Given the description of an element on the screen output the (x, y) to click on. 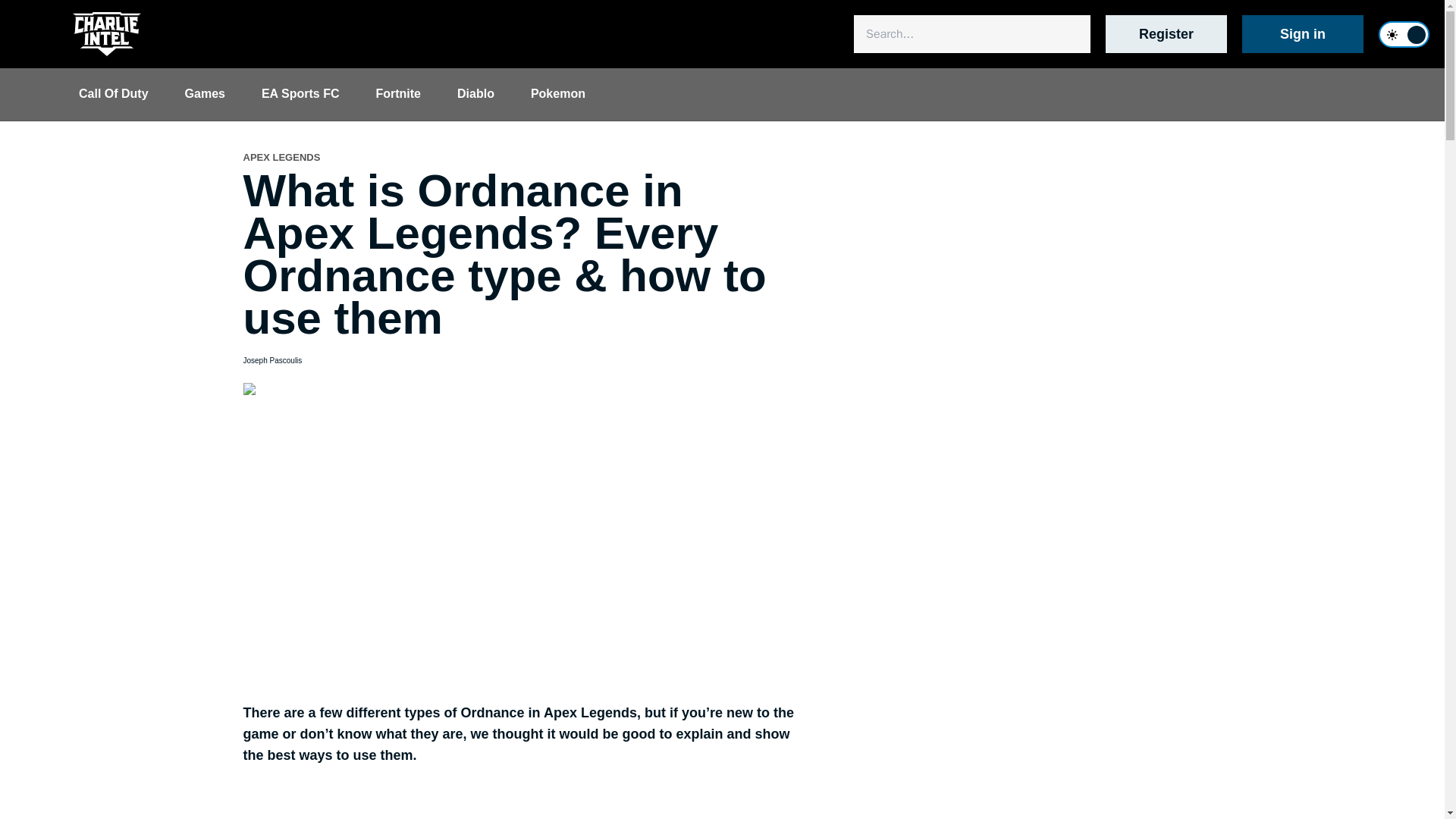
Call Of Duty (114, 93)
Fortnite (397, 93)
APEX LEGENDS (281, 157)
Pokemon (558, 93)
Sign in (1301, 34)
Games (205, 93)
Diablo (475, 93)
EA Sports FC (300, 93)
Register (1166, 34)
Joseph Pascoulis (272, 360)
